Given the description of an element on the screen output the (x, y) to click on. 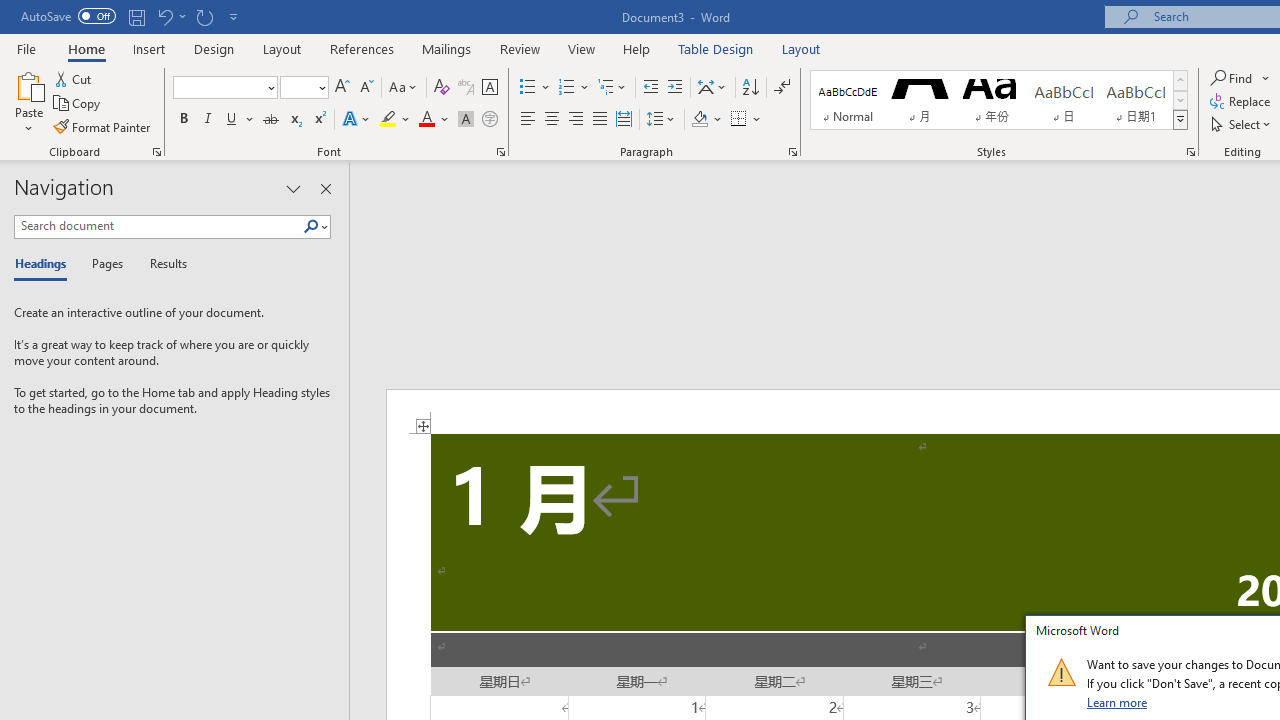
AutomationID: QuickStylesGallery (999, 99)
